Given the description of an element on the screen output the (x, y) to click on. 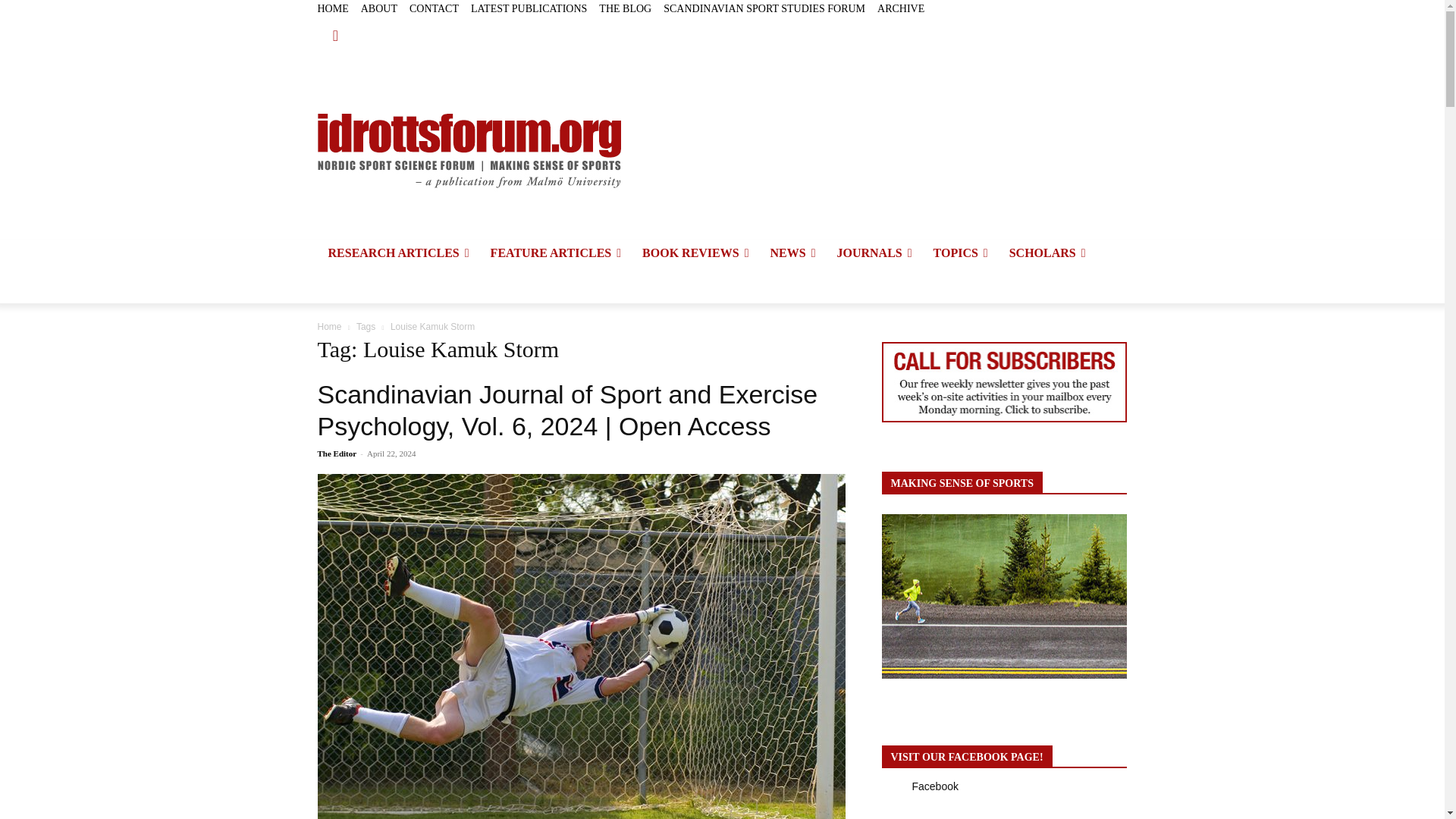
Instagram (1066, 45)
Facebook (1049, 45)
SSSF (763, 9)
Youtube (1117, 45)
Vimeo (1101, 45)
Twitter (1084, 45)
